Given the description of an element on the screen output the (x, y) to click on. 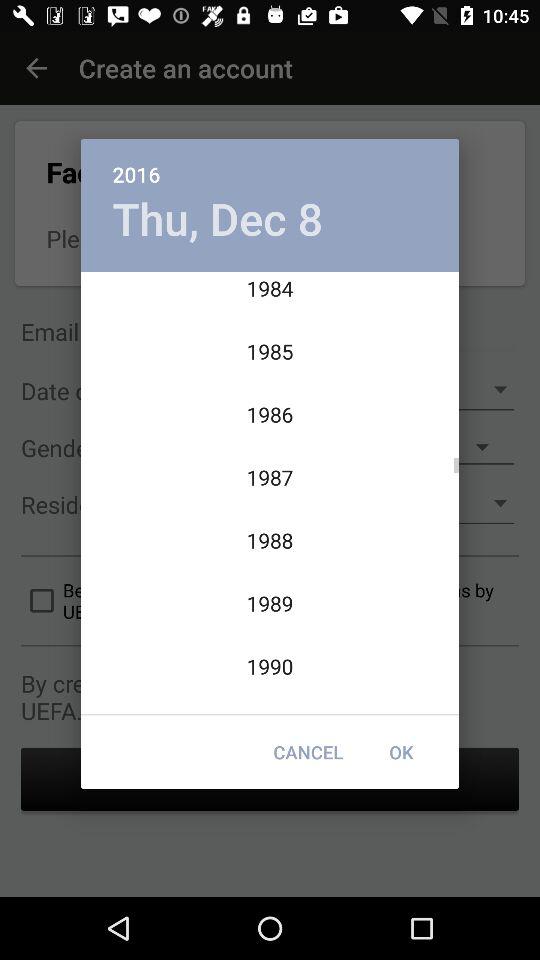
open icon to the left of the ok item (308, 751)
